Given the description of an element on the screen output the (x, y) to click on. 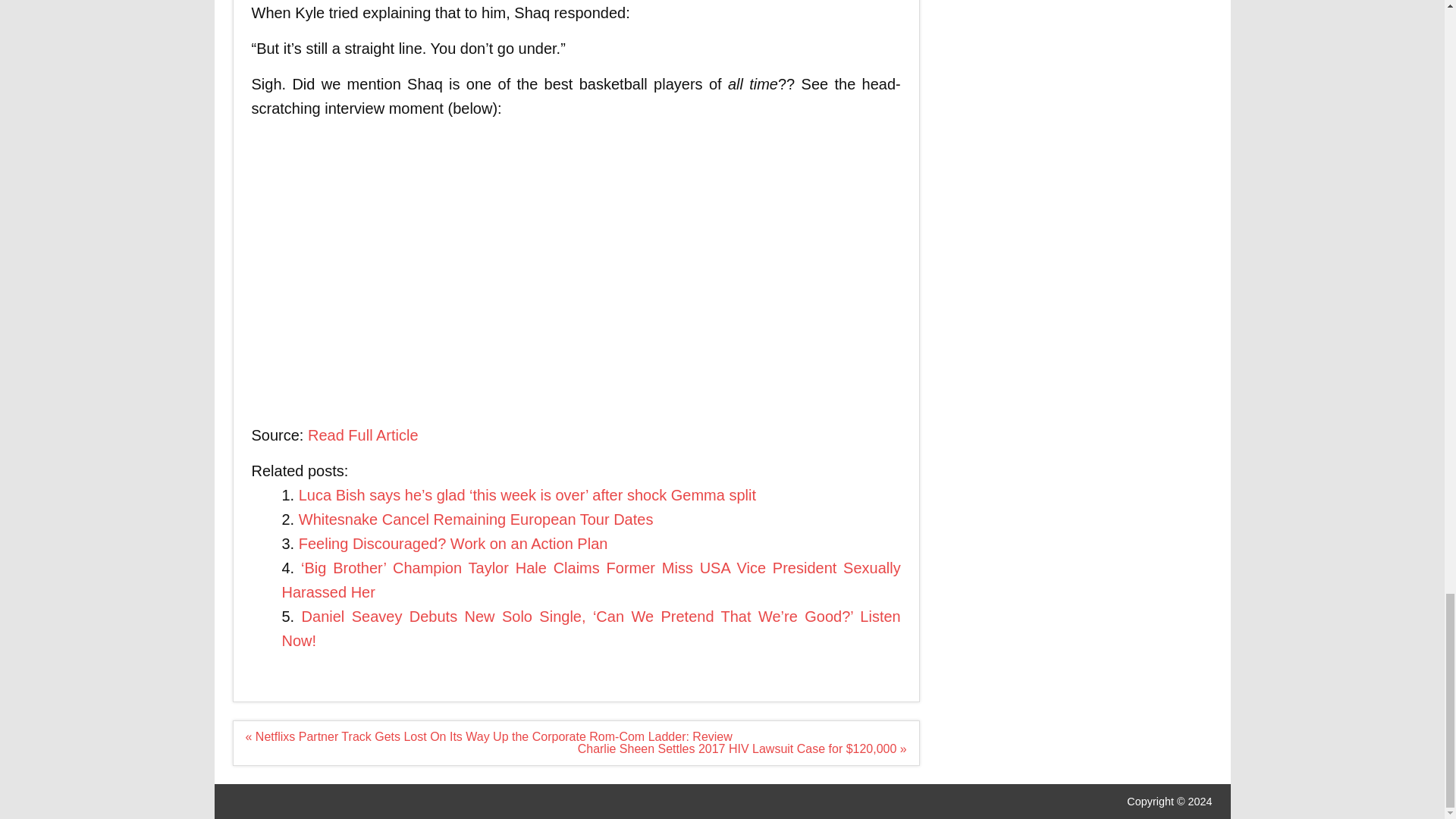
Whitesnake Cancel Remaining European Tour Dates (475, 519)
Feeling Discouraged? Work on an Action Plan (453, 543)
Feeling Discouraged? Work on an Action Plan (453, 543)
Read Full Article (363, 434)
Whitesnake Cancel Remaining European Tour Dates (475, 519)
